Given the description of an element on the screen output the (x, y) to click on. 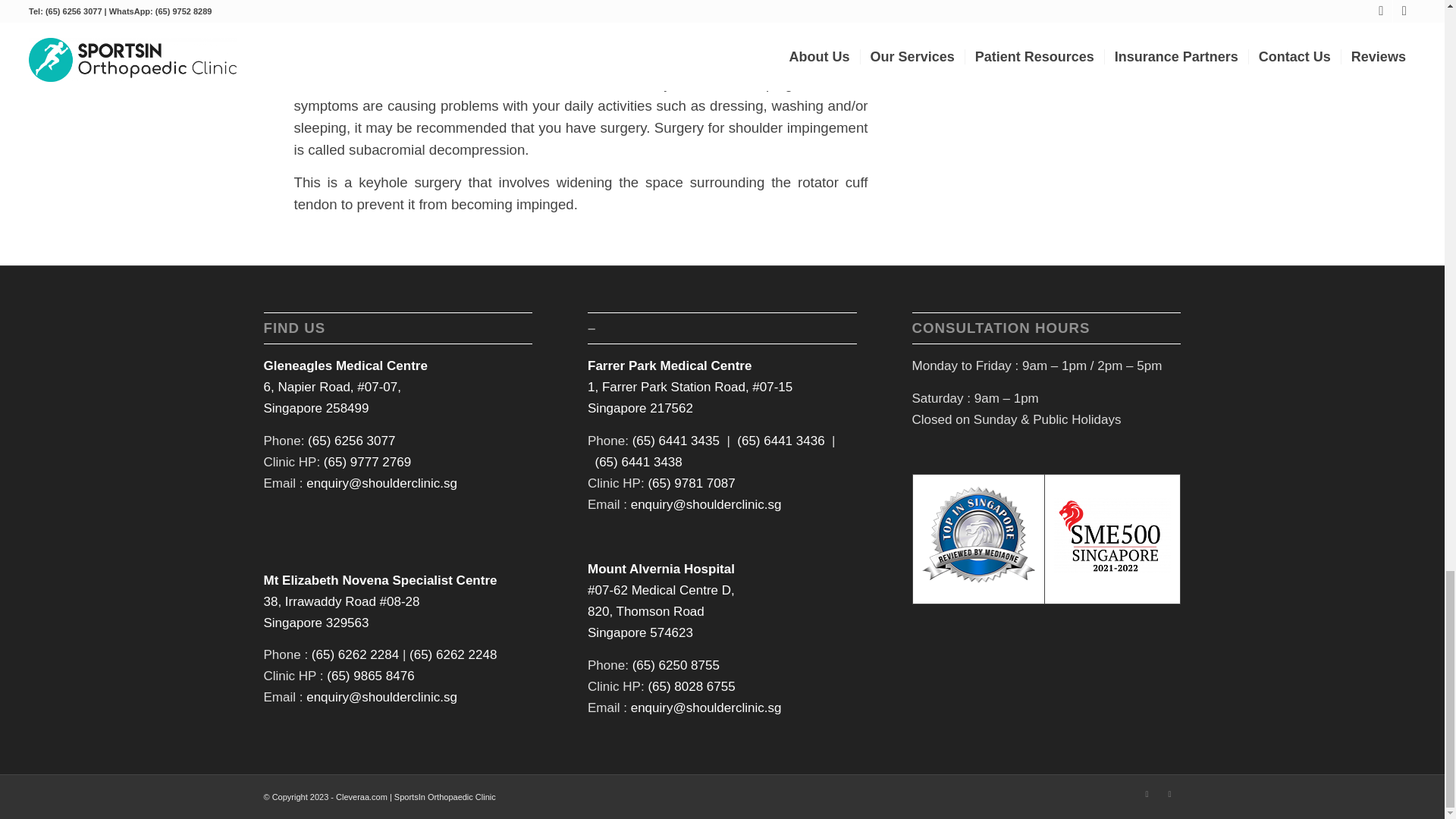
Top Orthopaedic Clinics In Singapore (978, 585)
Facebook (1146, 793)
Youtube (1169, 793)
